Given the description of an element on the screen output the (x, y) to click on. 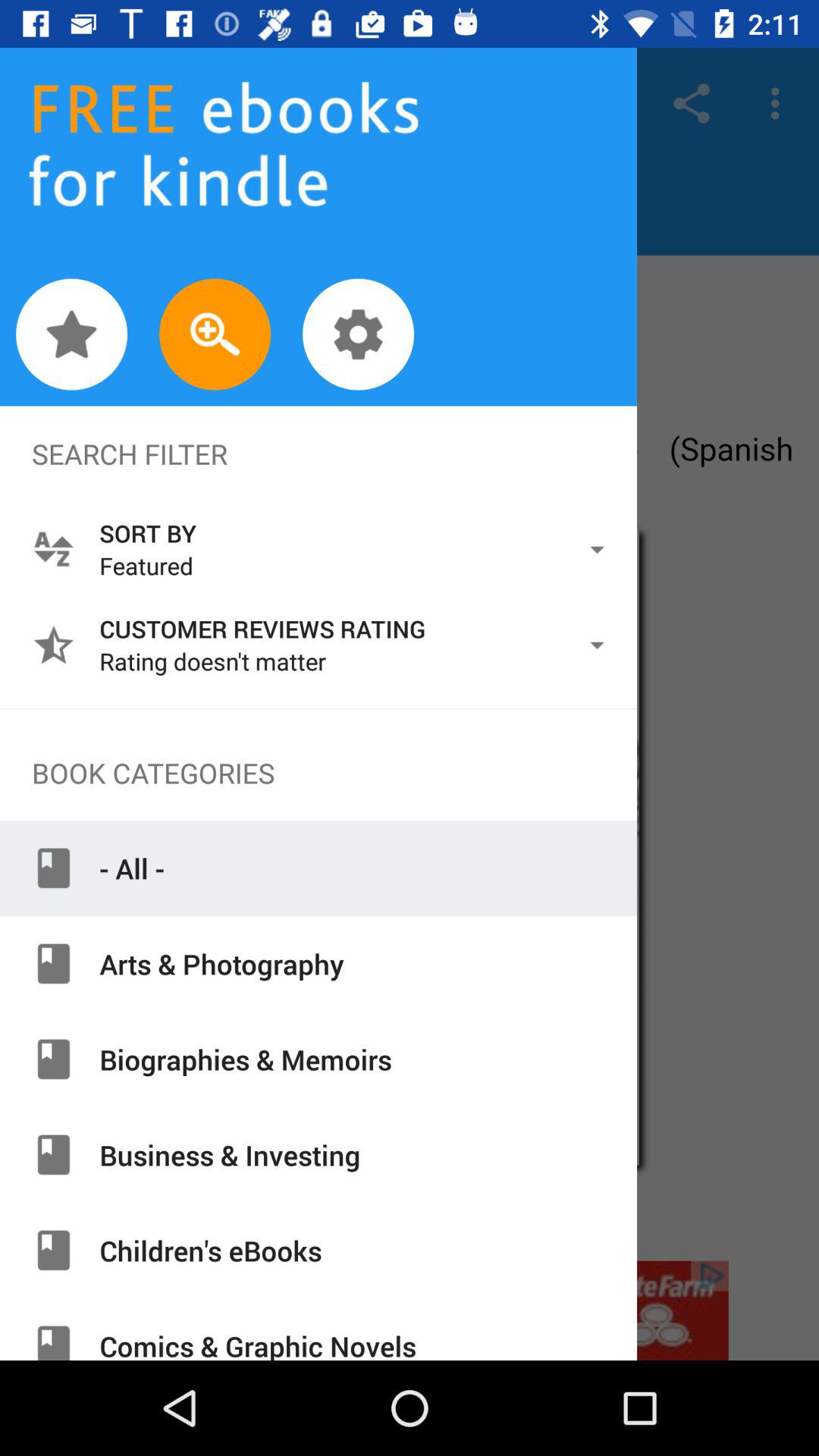
favorites (71, 334)
